Given the description of an element on the screen output the (x, y) to click on. 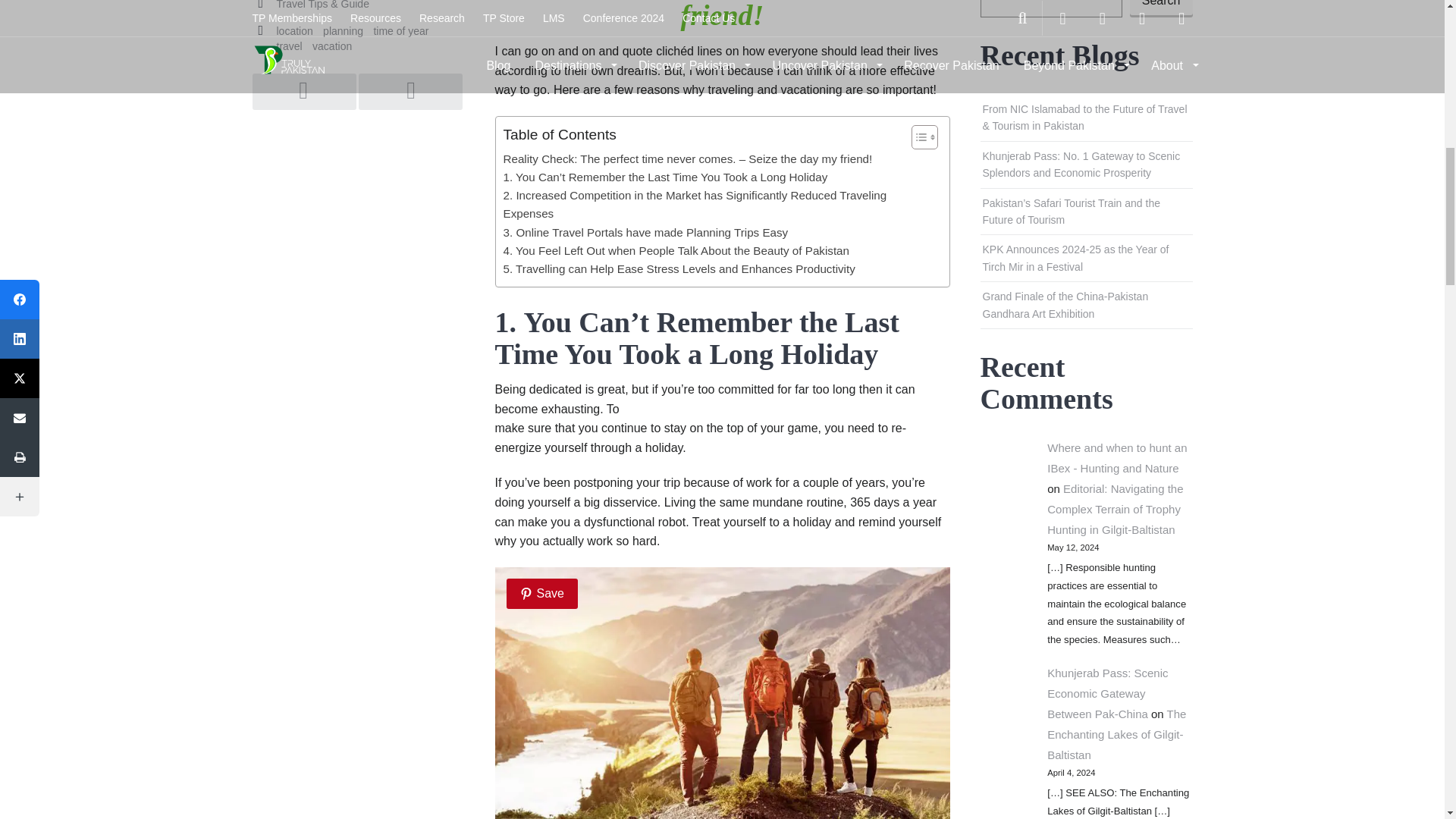
3. Online Travel Portals have made Planning Trips Easy (646, 232)
